Given the description of an element on the screen output the (x, y) to click on. 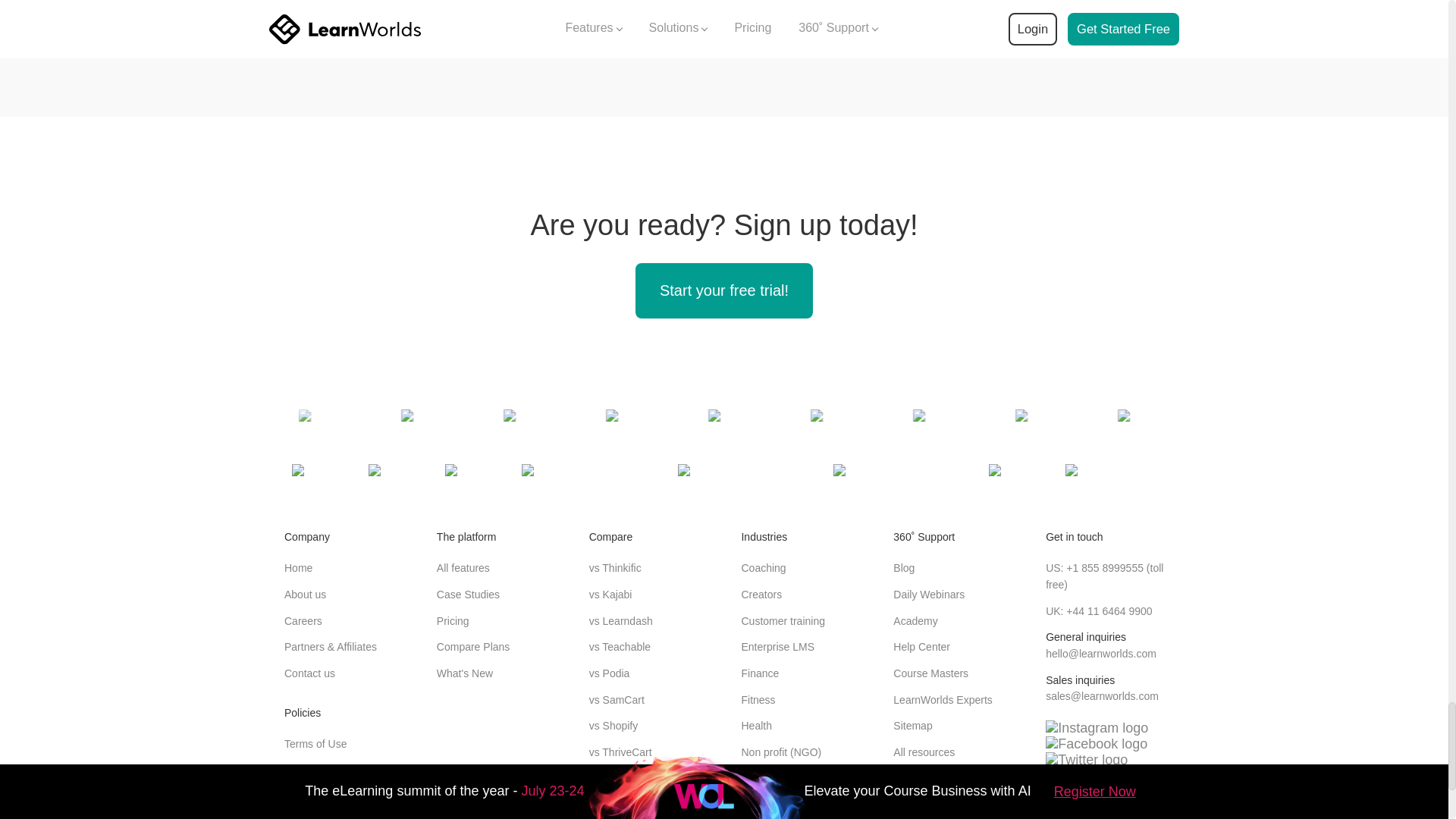
send email to LearnWorlds (1101, 695)
send email to LearnWorlds (1100, 653)
